Given the description of an element on the screen output the (x, y) to click on. 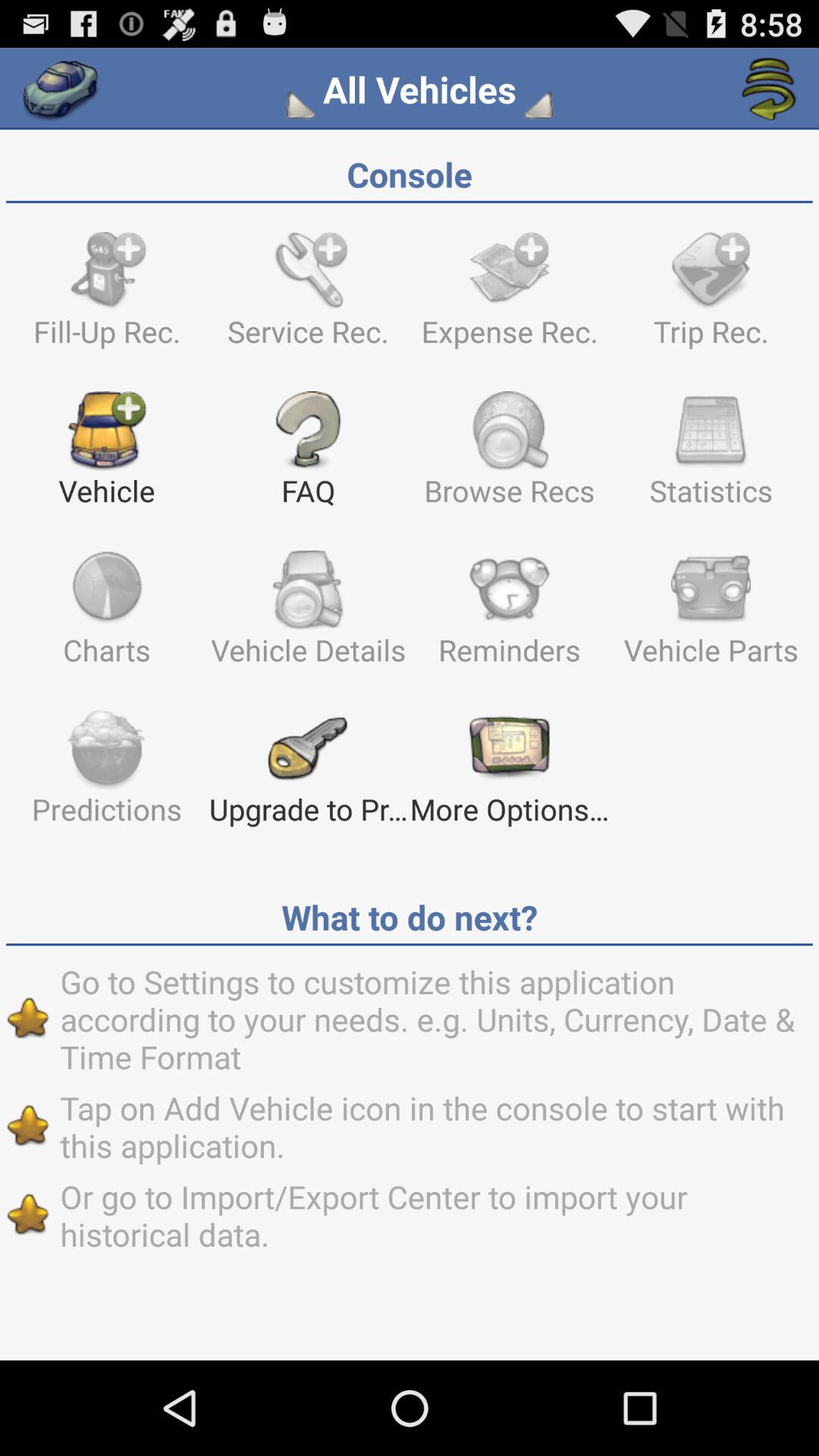
turn on statistics item (710, 455)
